Given the description of an element on the screen output the (x, y) to click on. 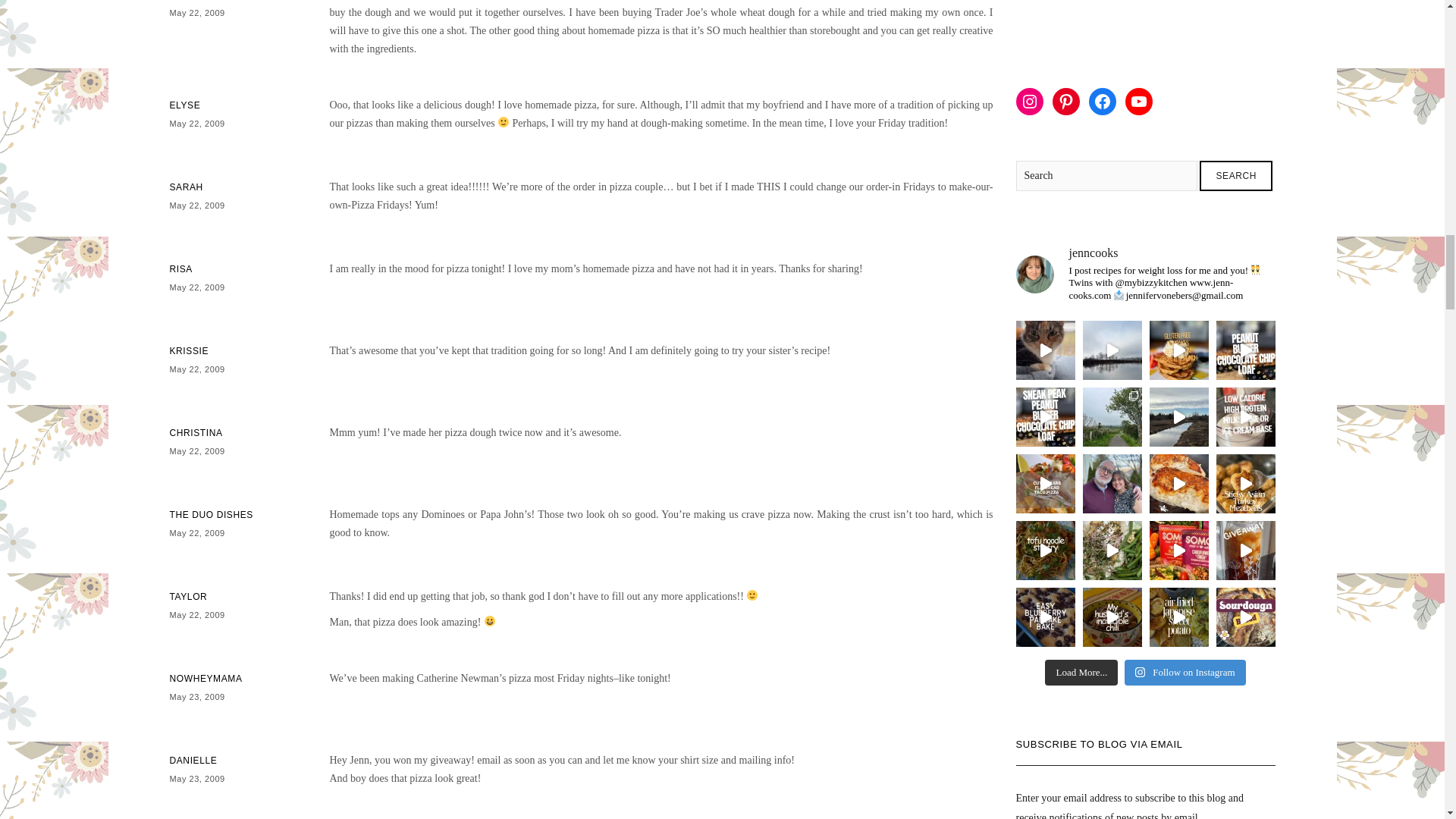
May 22, 2009 (197, 204)
SARAH (186, 186)
May 22, 2009 (197, 286)
ELYSE (185, 104)
RISA (181, 268)
May 22, 2009 (197, 12)
May 22, 2009 (197, 122)
